Given the description of an element on the screen output the (x, y) to click on. 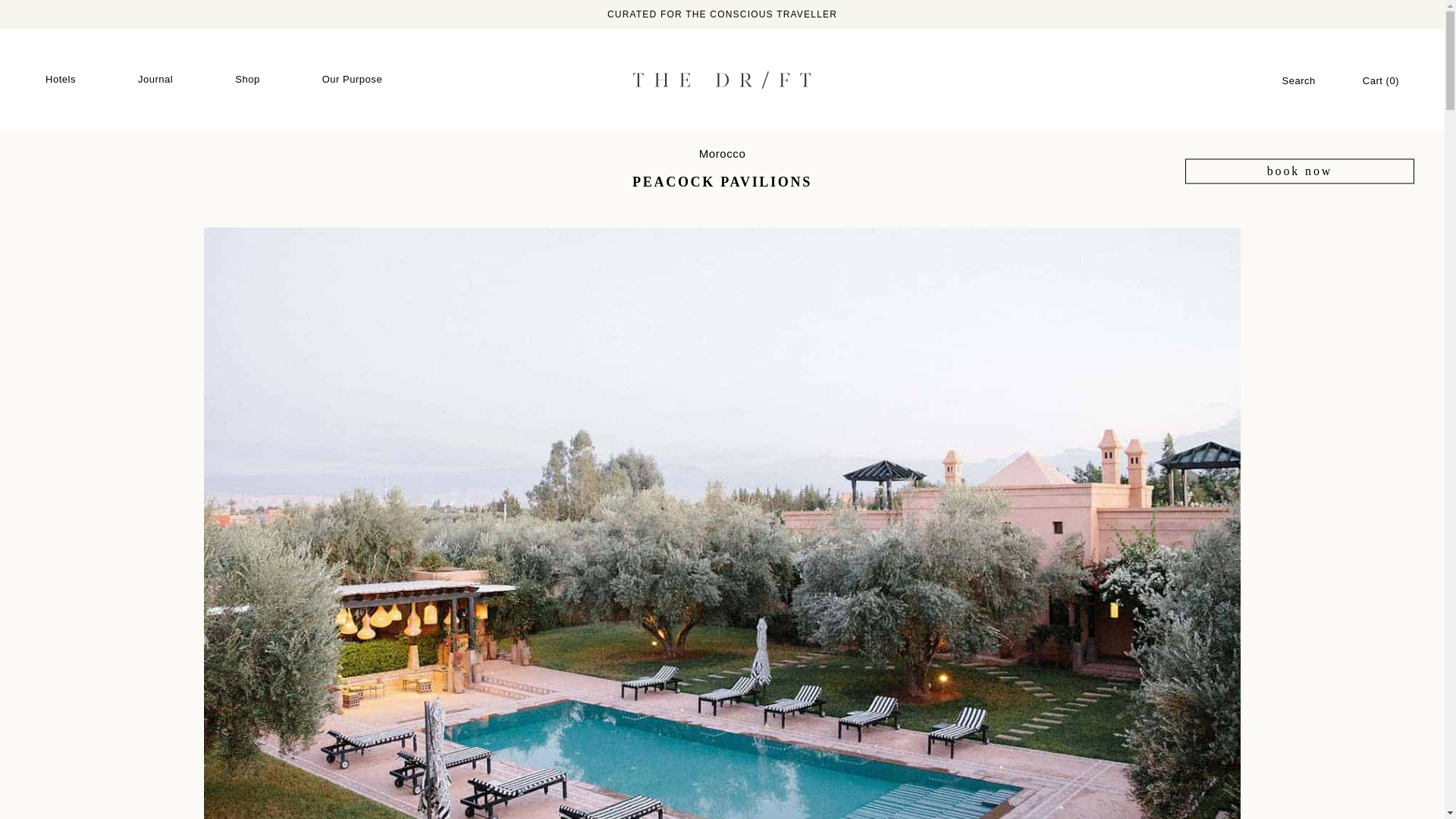
Search (1297, 80)
Journal (155, 79)
Morocco (721, 153)
Our Purpose (351, 79)
Hotels (61, 79)
book now (1299, 171)
Shop (247, 79)
